Given the description of an element on the screen output the (x, y) to click on. 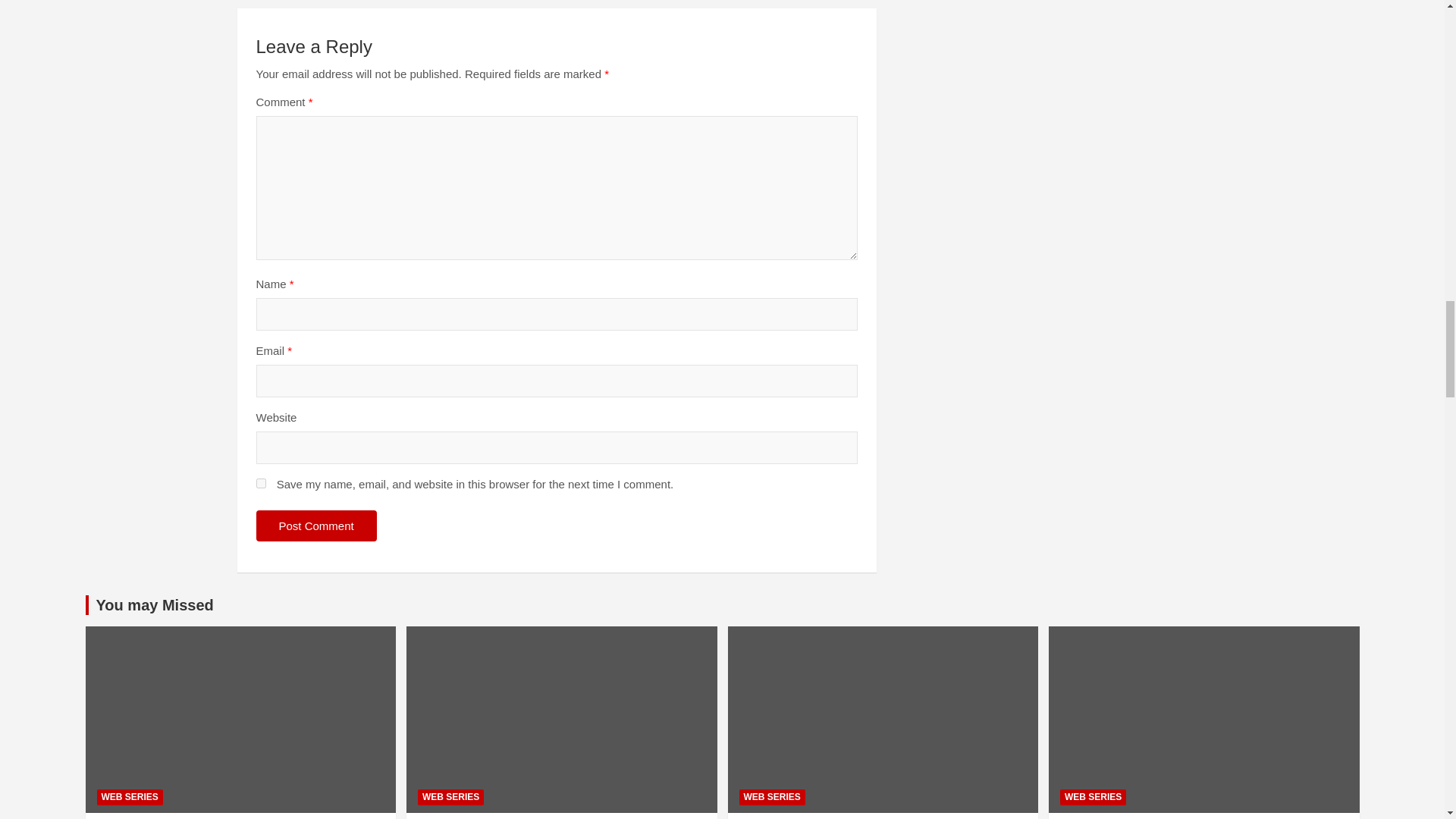
Post Comment (316, 525)
yes (261, 483)
